Given the description of an element on the screen output the (x, y) to click on. 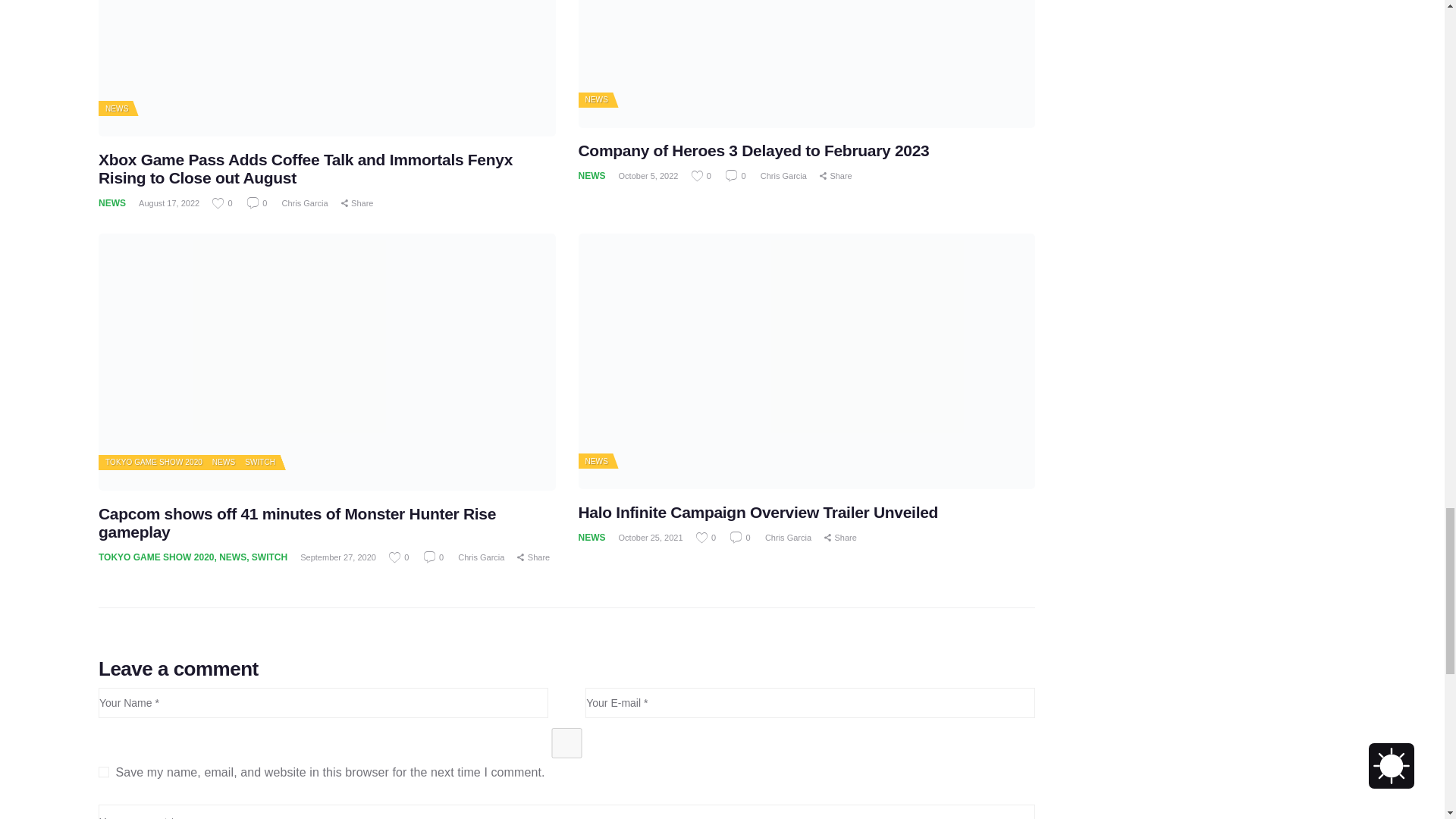
View all posts in News (596, 460)
View all posts in News (596, 99)
View all posts in Tokyo Game Show 2020 (153, 461)
Like (399, 556)
View all posts in News (116, 108)
View all posts in News (223, 461)
View all posts in Switch (259, 461)
yes (567, 743)
Like (706, 537)
Like (223, 203)
